Given the description of an element on the screen output the (x, y) to click on. 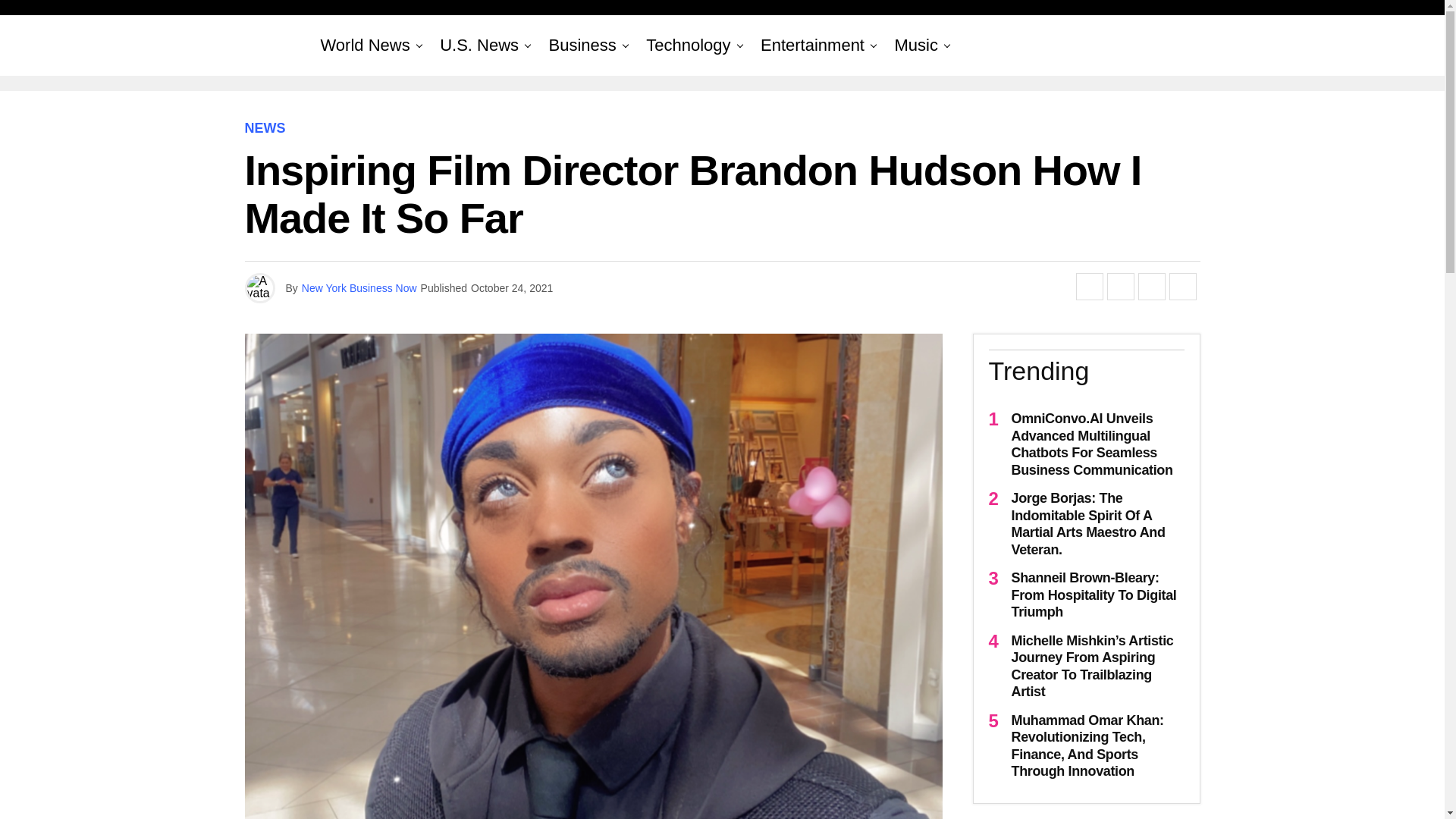
World News (364, 45)
Technology (688, 45)
Share on Facebook (1088, 286)
Business (582, 45)
U.S. News (478, 45)
Tweet This Post (1120, 286)
Share on Flipboard (1150, 286)
Posts by New York Business Now (358, 287)
Entertainment (812, 45)
